Given the description of an element on the screen output the (x, y) to click on. 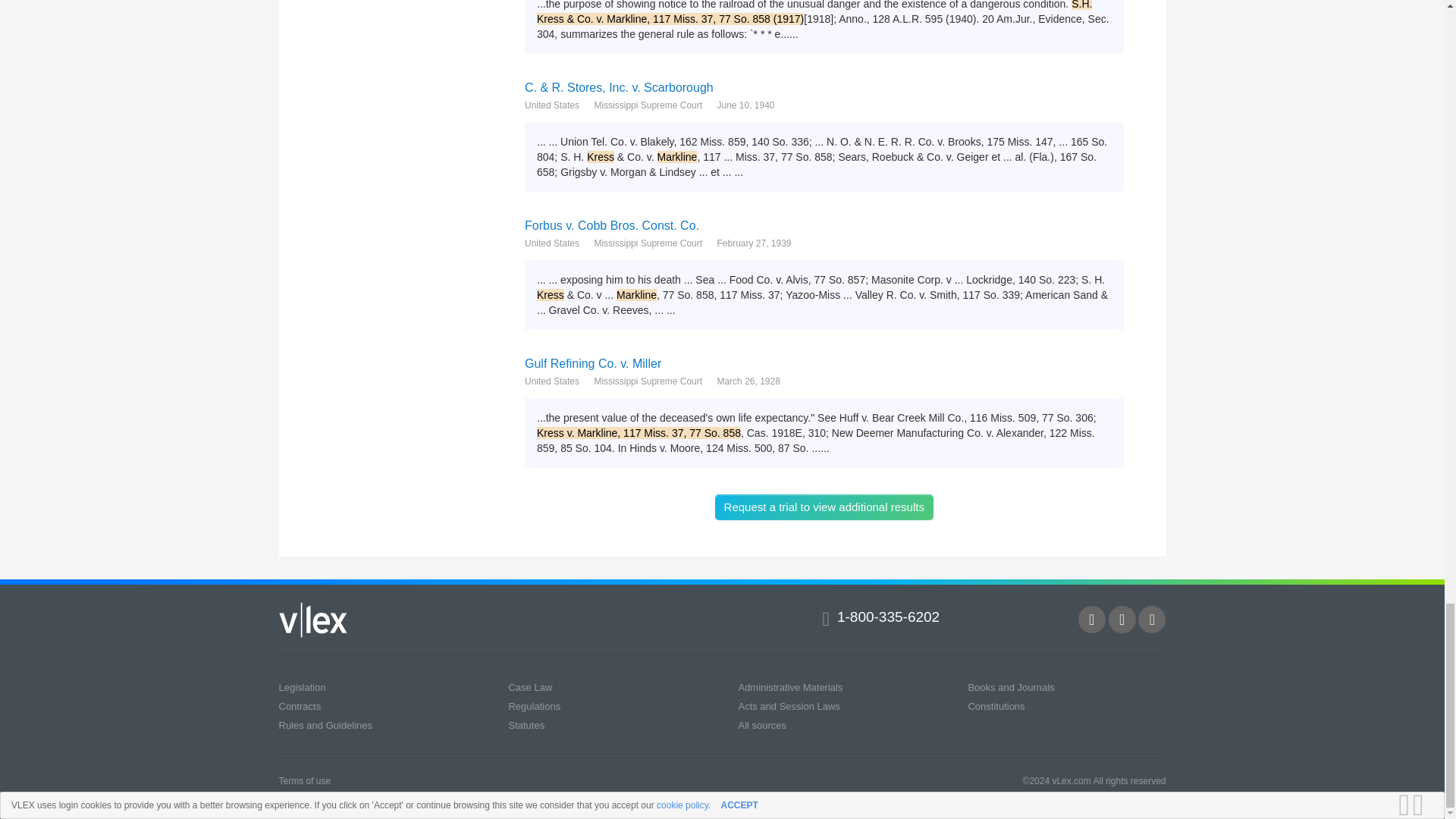
Case Law (529, 686)
Forbus v. Cobb Bros. Const. Co. (824, 225)
Mississippi Supreme Court (647, 380)
Constitutions (996, 706)
Contracts (300, 706)
United States (551, 104)
Legislation (302, 686)
Forbus v. Cobb Bros. Const. Co. (824, 225)
March 26, 1928 (747, 380)
Rules and Guidelines (325, 724)
